Given the description of an element on the screen output the (x, y) to click on. 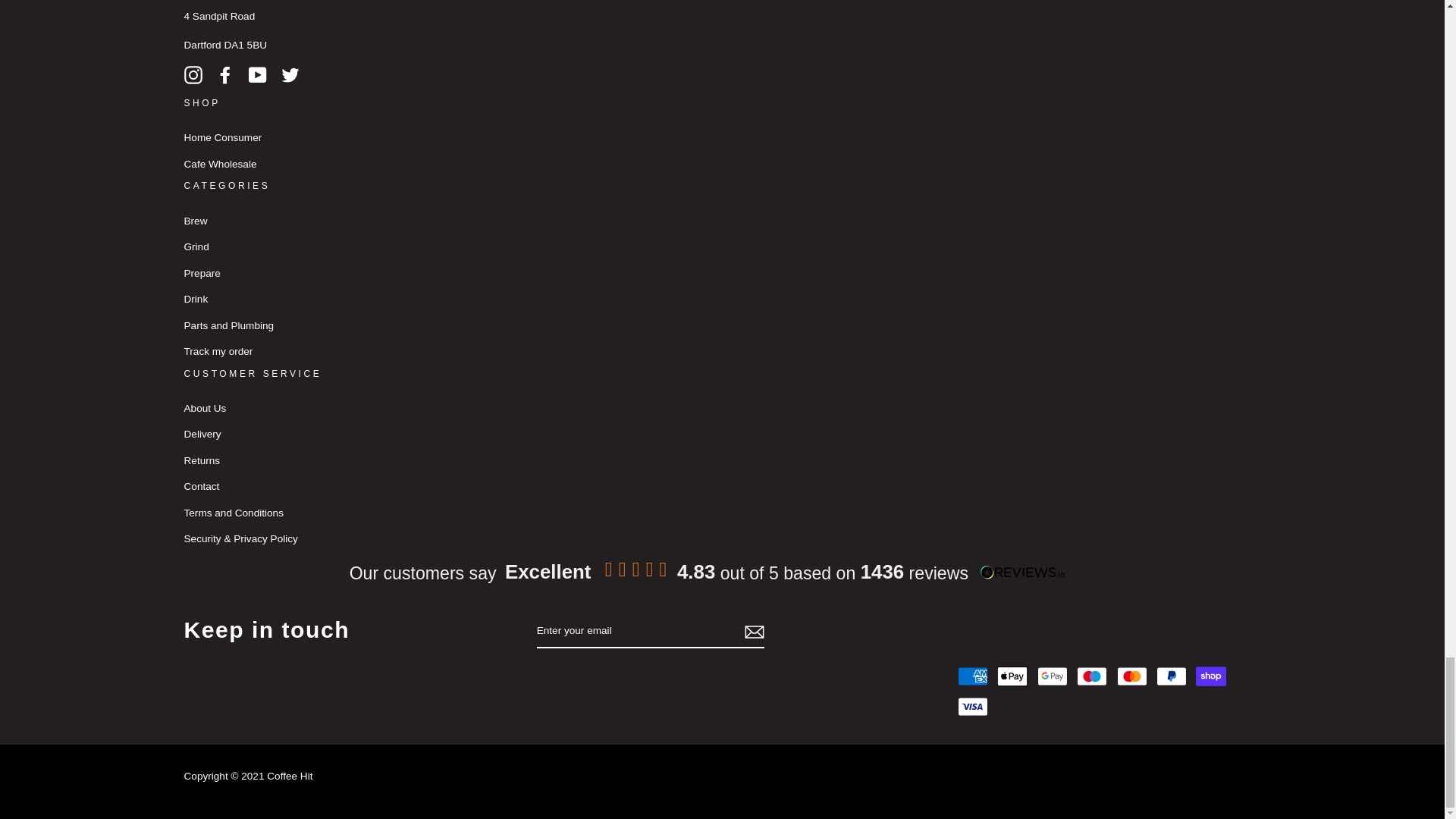
Apple Pay (1012, 675)
Coffee Hit Trade on Facebook (224, 74)
American Express (973, 675)
Visa (973, 706)
Maestro (1091, 675)
Coffee Hit Trade on Twitter (290, 74)
Shop Pay (1210, 675)
PayPal (1171, 675)
Reviews Widget (698, 569)
Coffee Hit Trade on Instagram (192, 74)
Google Pay (1051, 675)
Mastercard (1131, 675)
Coffee Hit Trade on YouTube (257, 74)
